Given the description of an element on the screen output the (x, y) to click on. 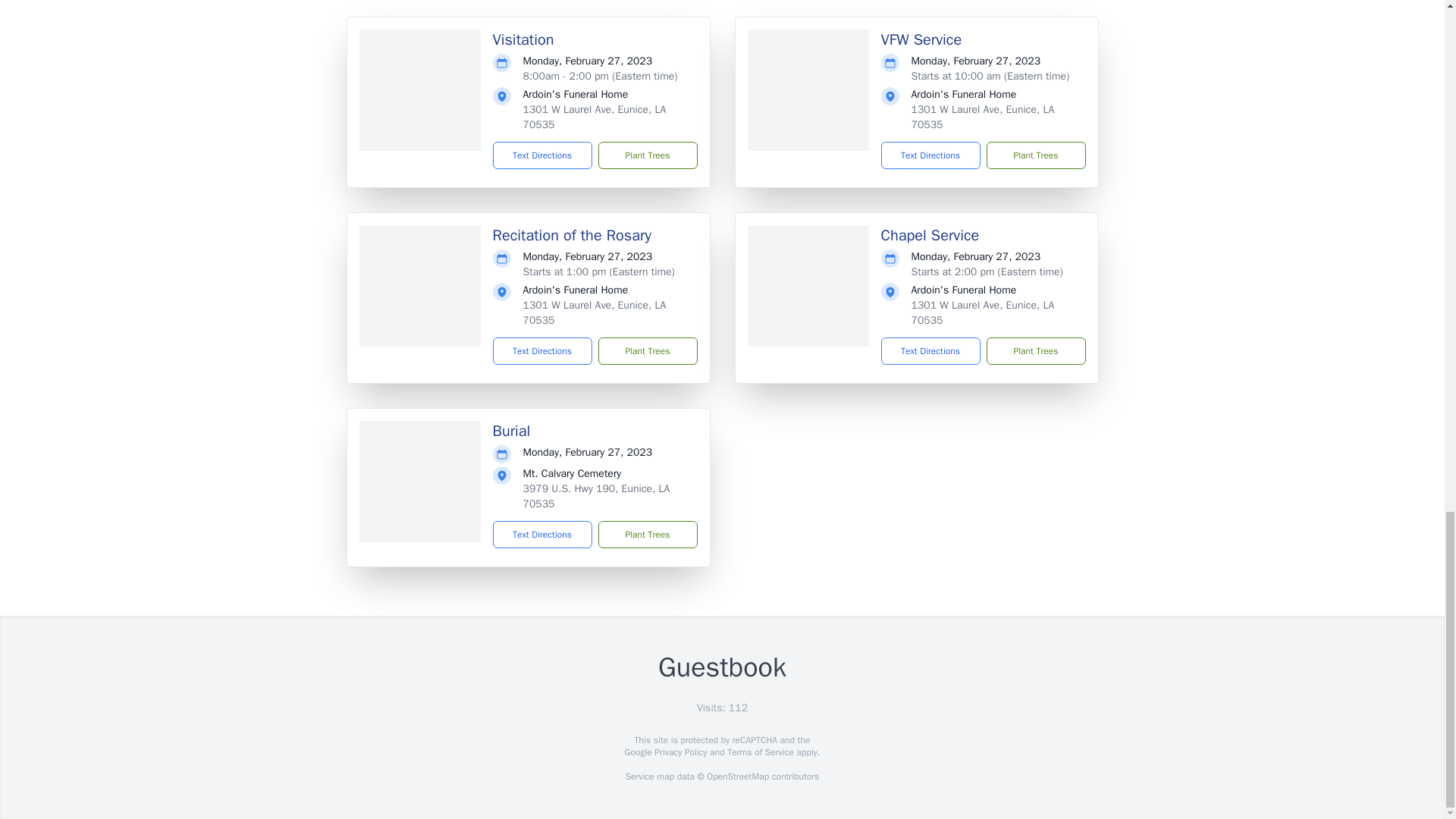
Text Directions (929, 154)
1301 W Laurel Ave, Eunice, LA 70535 (594, 117)
Plant Trees (646, 350)
Text Directions (929, 350)
Text Directions (542, 154)
Plant Trees (646, 154)
Text Directions (542, 350)
1301 W Laurel Ave, Eunice, LA 70535 (594, 312)
Plant Trees (1034, 154)
1301 W Laurel Ave, Eunice, LA 70535 (982, 117)
